Given the description of an element on the screen output the (x, y) to click on. 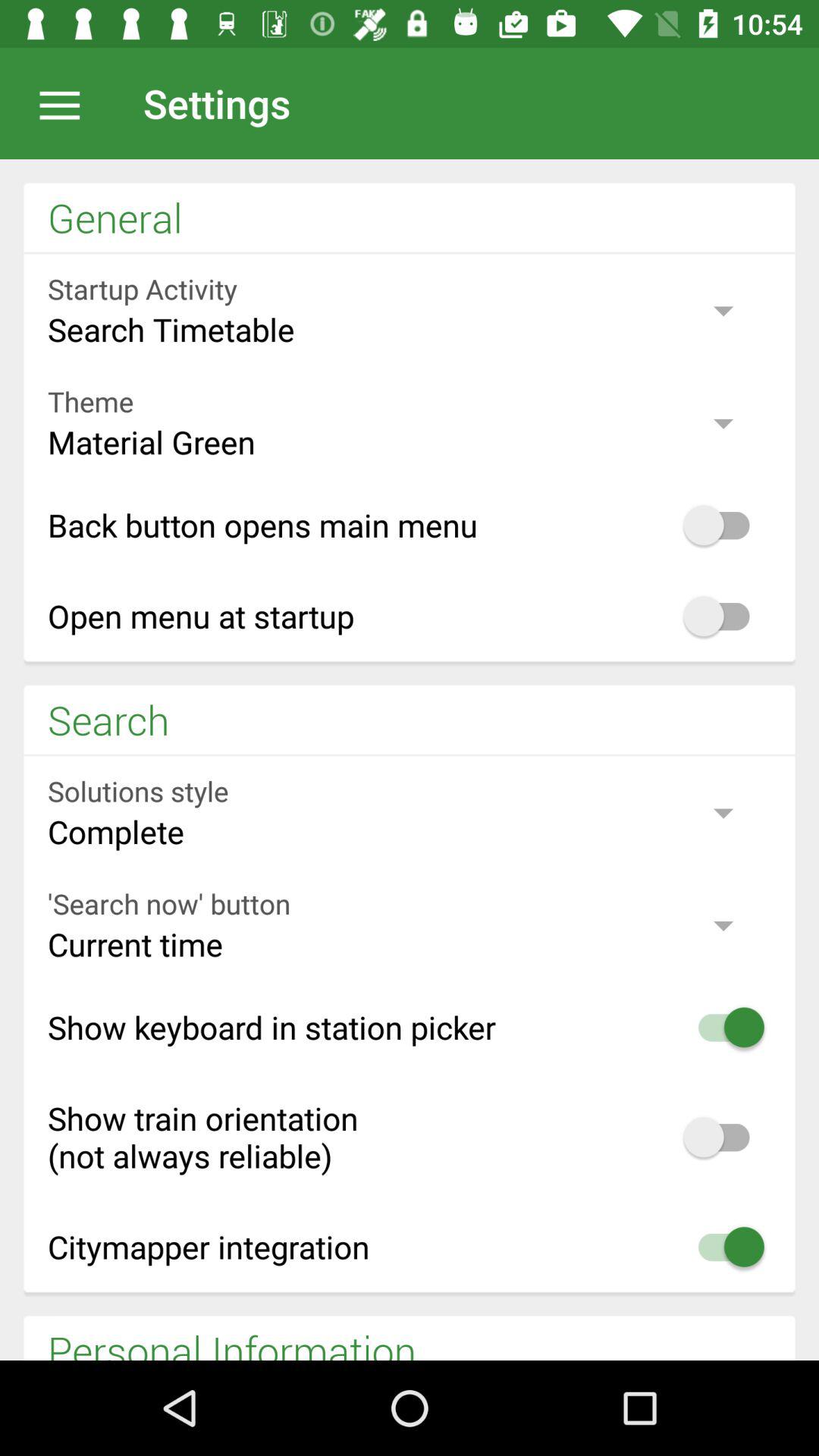
click on option above personal information (409, 1246)
